Given the description of an element on the screen output the (x, y) to click on. 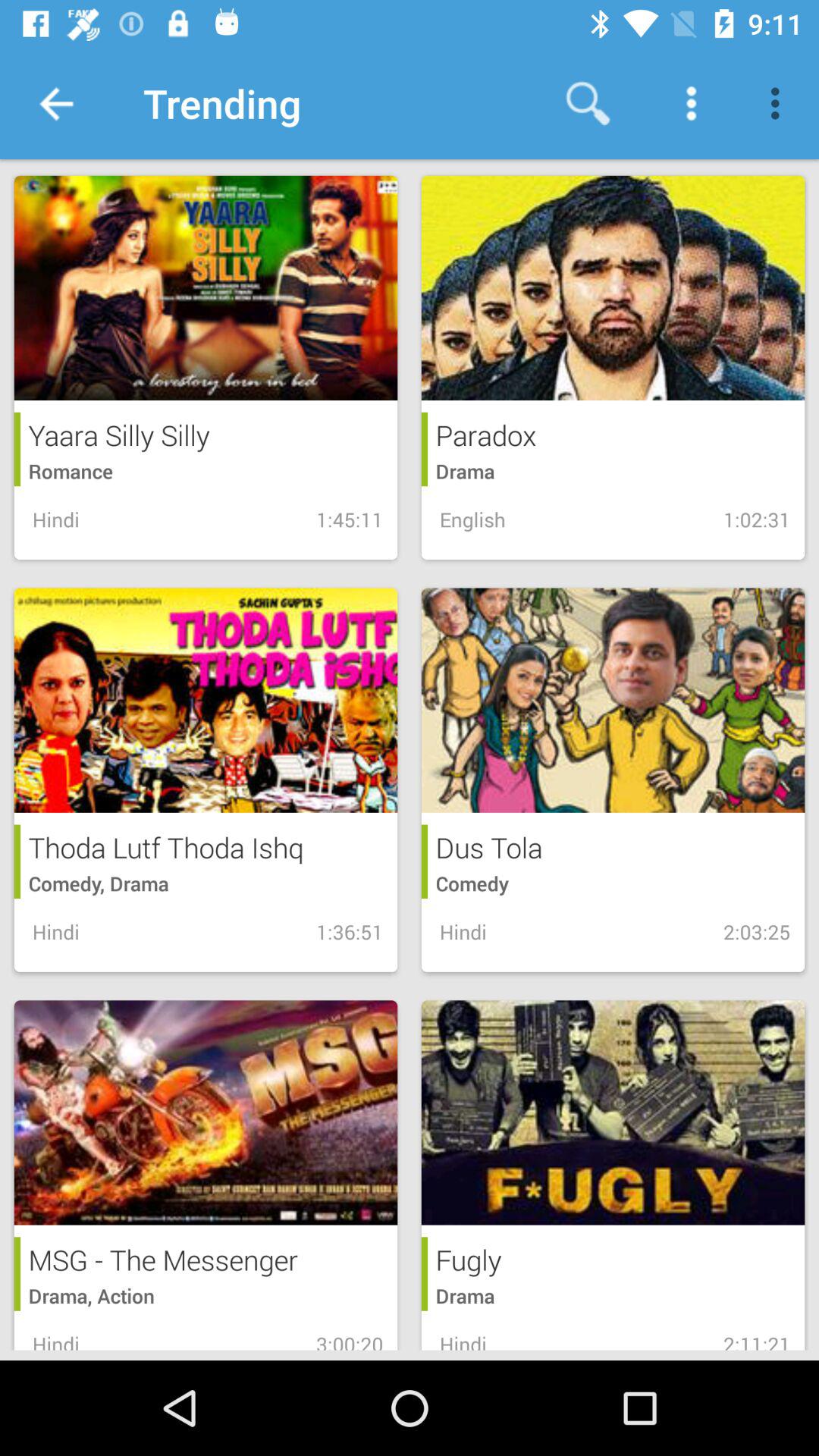
press icon next to the trending (587, 103)
